Given the description of an element on the screen output the (x, y) to click on. 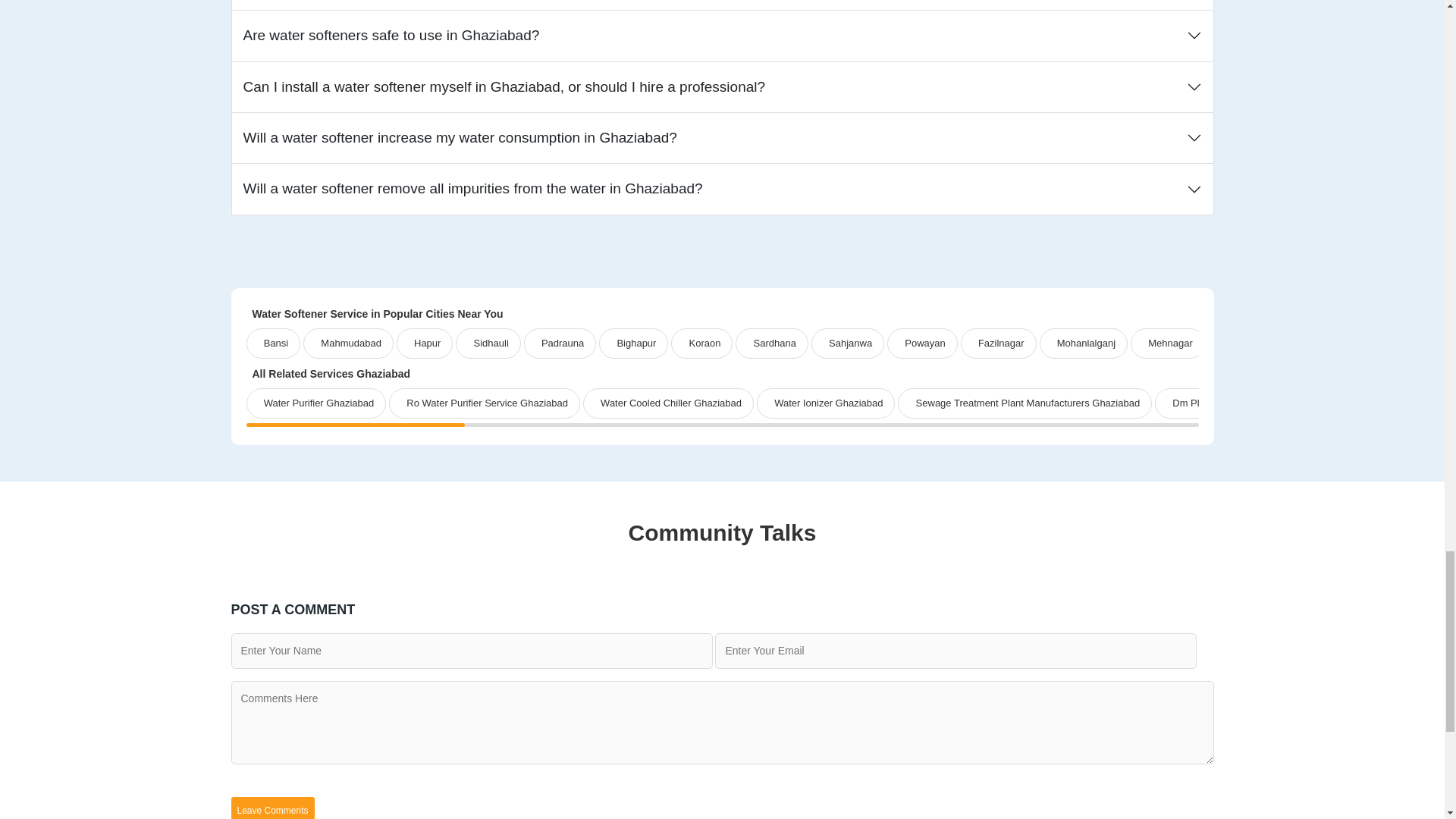
Leave Comments (272, 807)
